Given the description of an element on the screen output the (x, y) to click on. 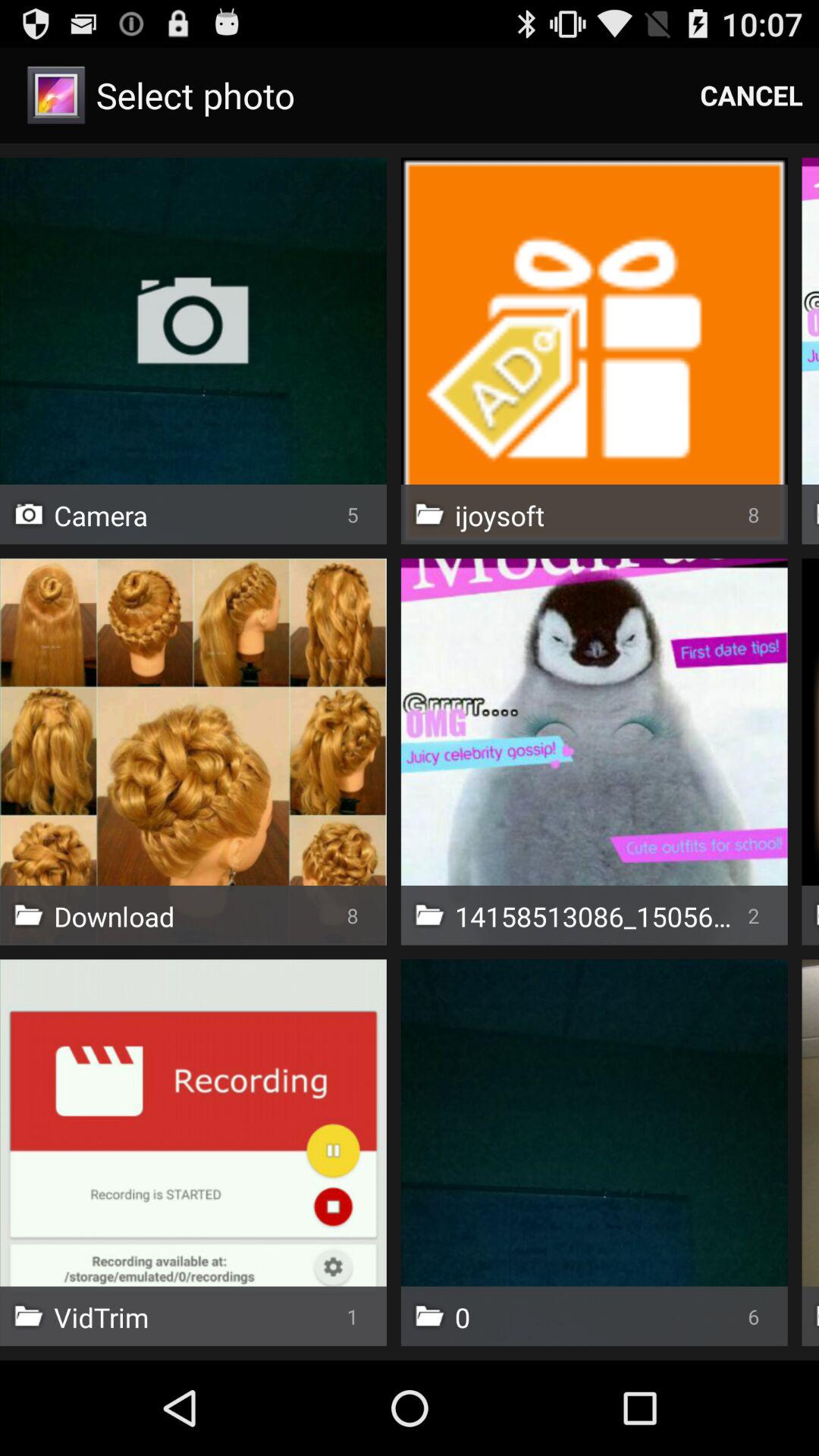
turn off cancel item (751, 95)
